Given the description of an element on the screen output the (x, y) to click on. 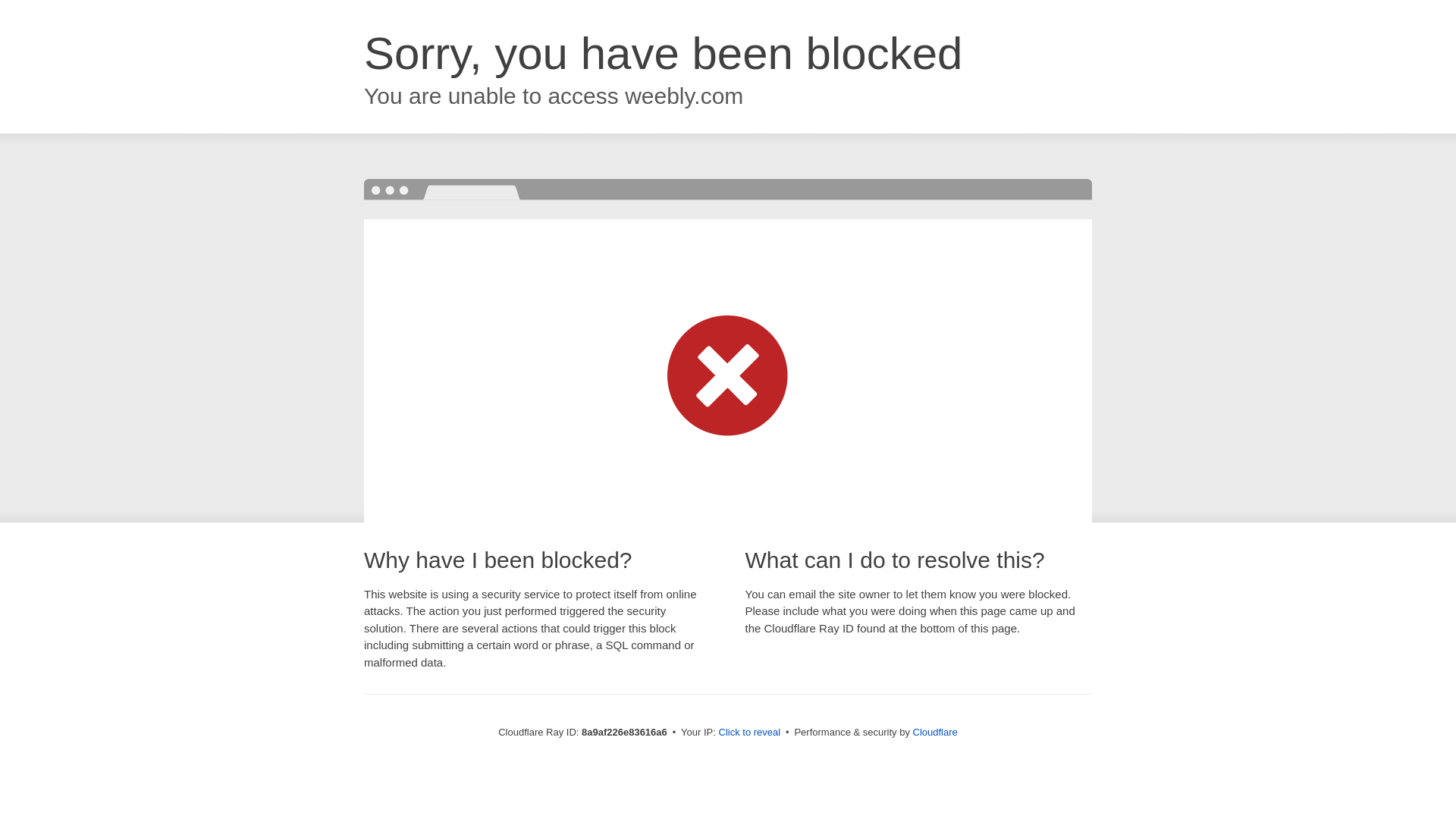
Click to reveal (749, 732)
Cloudflare (935, 731)
